Given the description of an element on the screen output the (x, y) to click on. 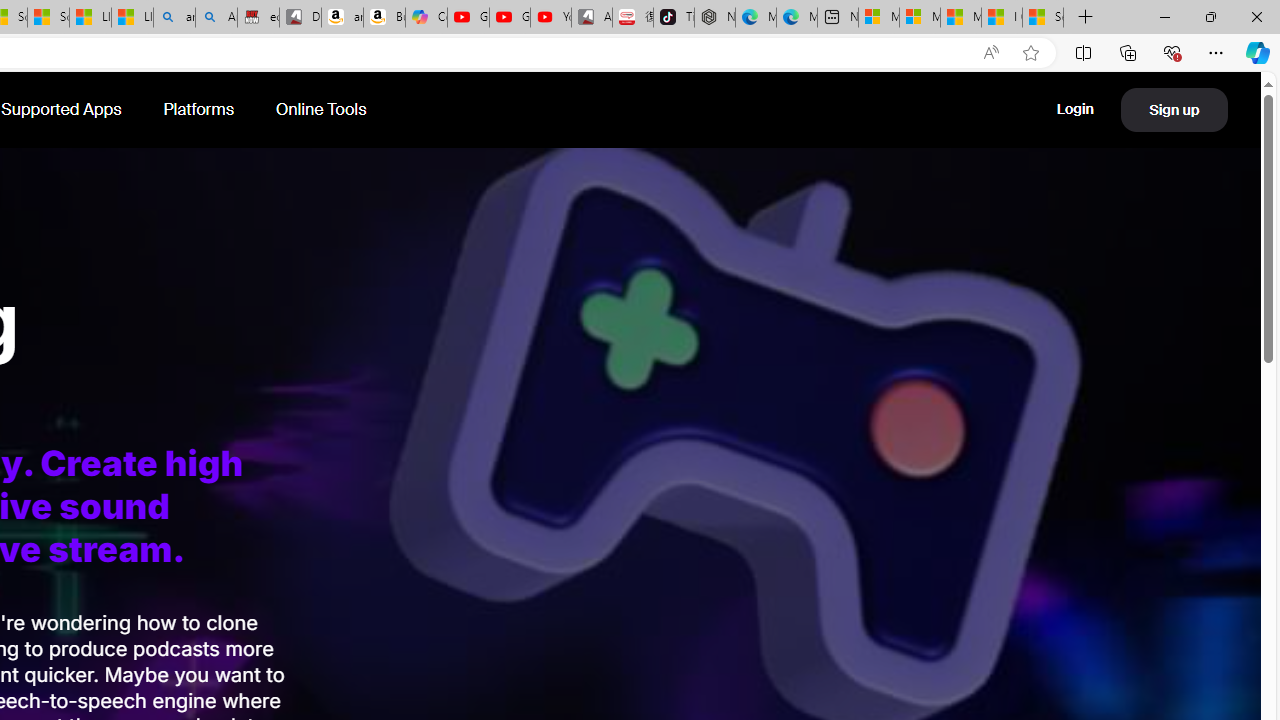
Platforms  (200, 109)
